Given the description of an element on the screen output the (x, y) to click on. 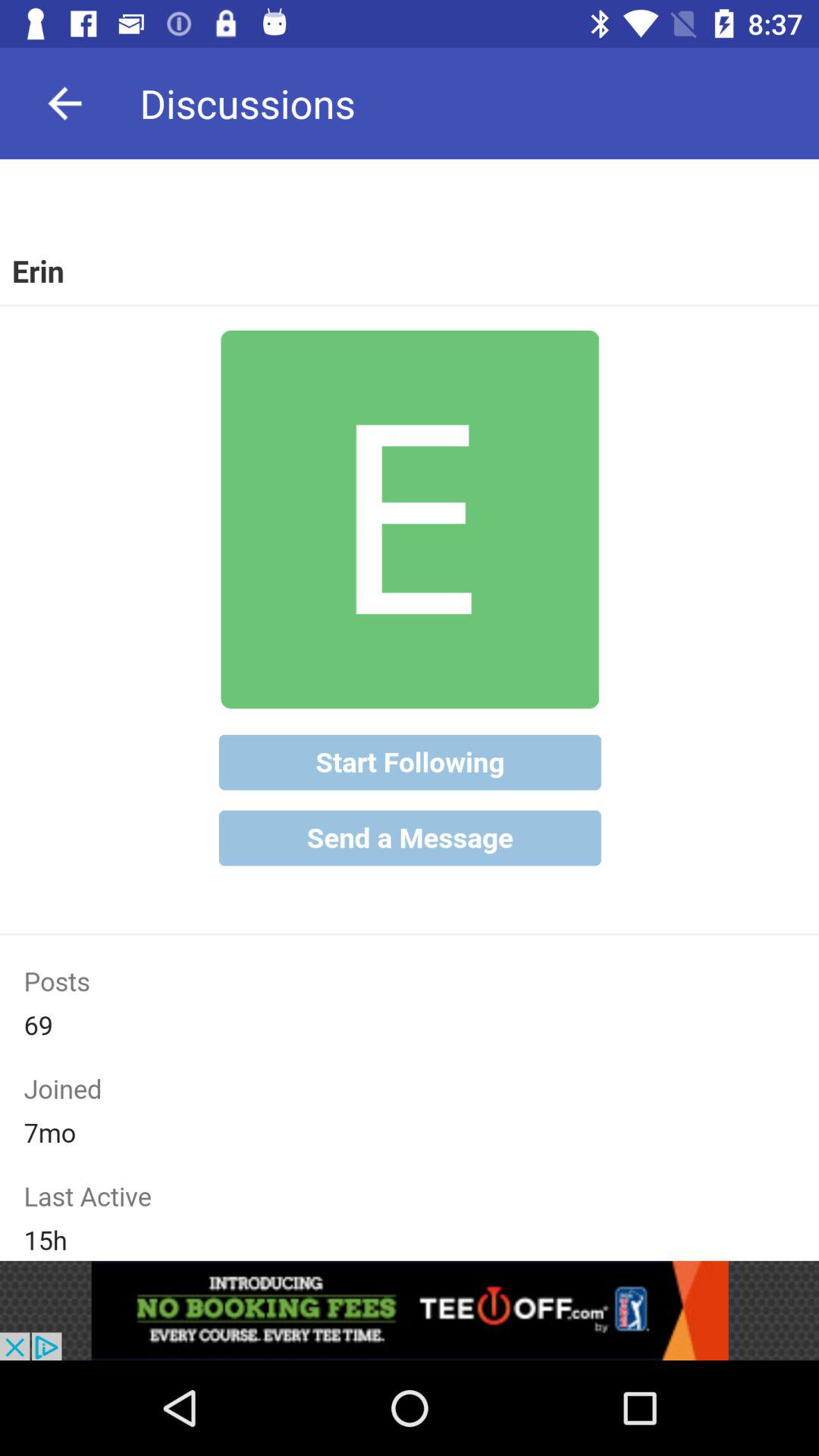
advertisement (409, 1310)
